Given the description of an element on the screen output the (x, y) to click on. 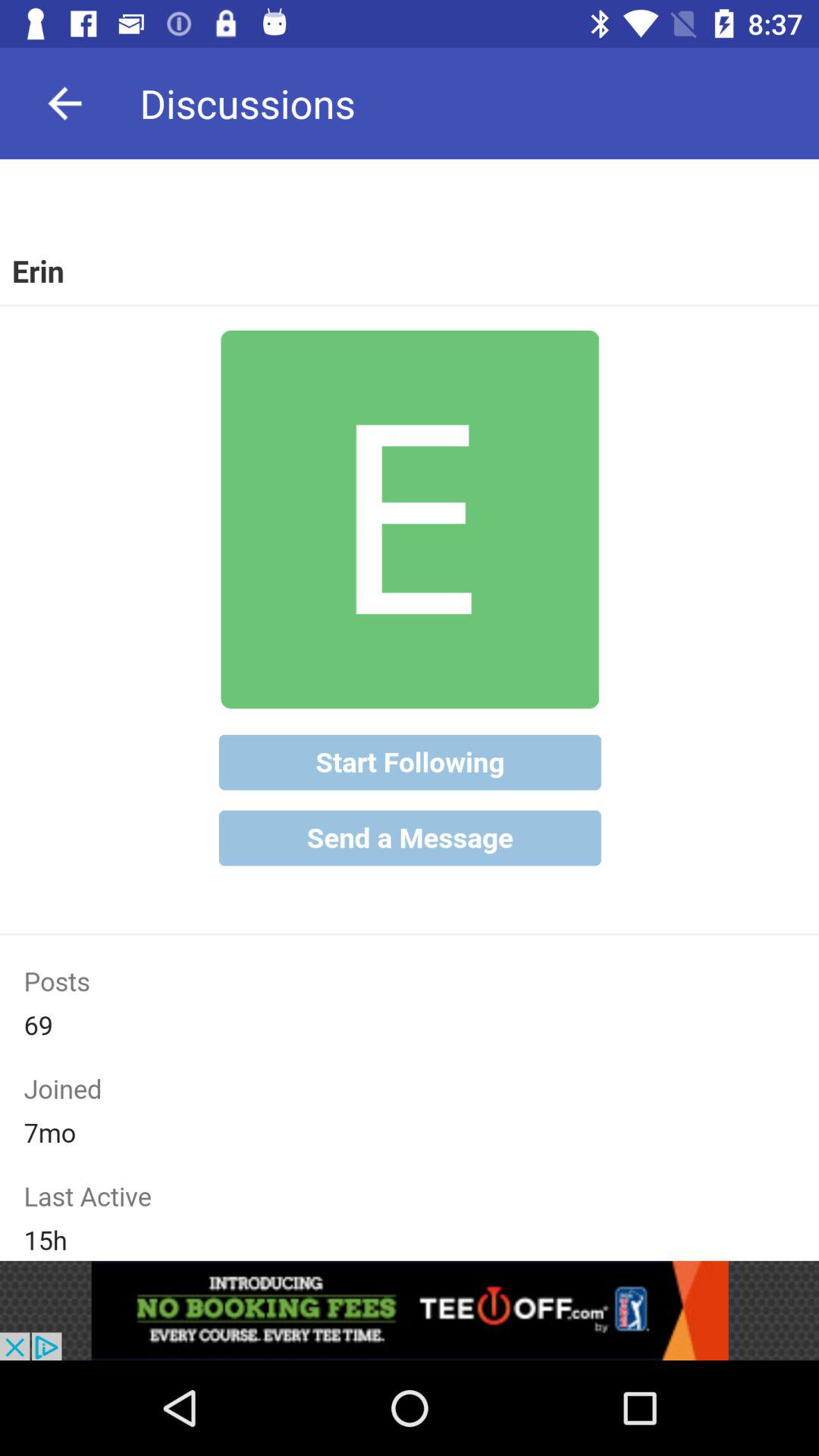
advertisement (409, 1310)
